Given the description of an element on the screen output the (x, y) to click on. 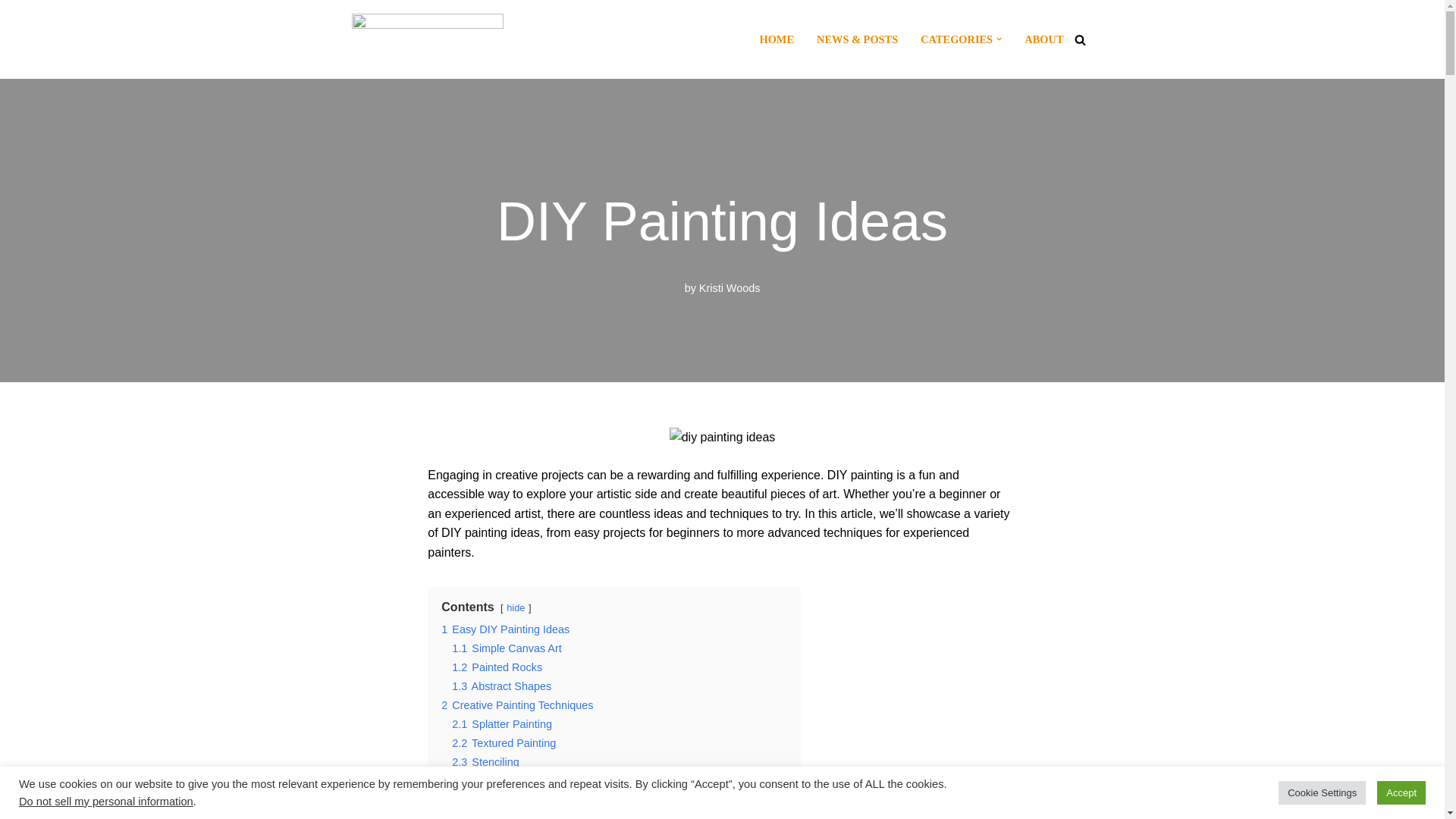
1.3 Abstract Shapes (501, 686)
Posts by Kristi Woods (729, 287)
2 Creative Painting Techniques (516, 705)
HOME (775, 39)
3 Abstract Painting Ideas (502, 781)
1 Easy DIY Painting Ideas (505, 629)
CATEGORIES (956, 39)
3.1 Intuitive Painting (501, 800)
hide (515, 607)
Skip to content (11, 31)
ABOUT (1043, 39)
2.2 Textured Painting (503, 743)
Kristi Woods (729, 287)
1.2 Painted Rocks (496, 666)
2.1 Splatter Painting (501, 724)
